Given the description of an element on the screen output the (x, y) to click on. 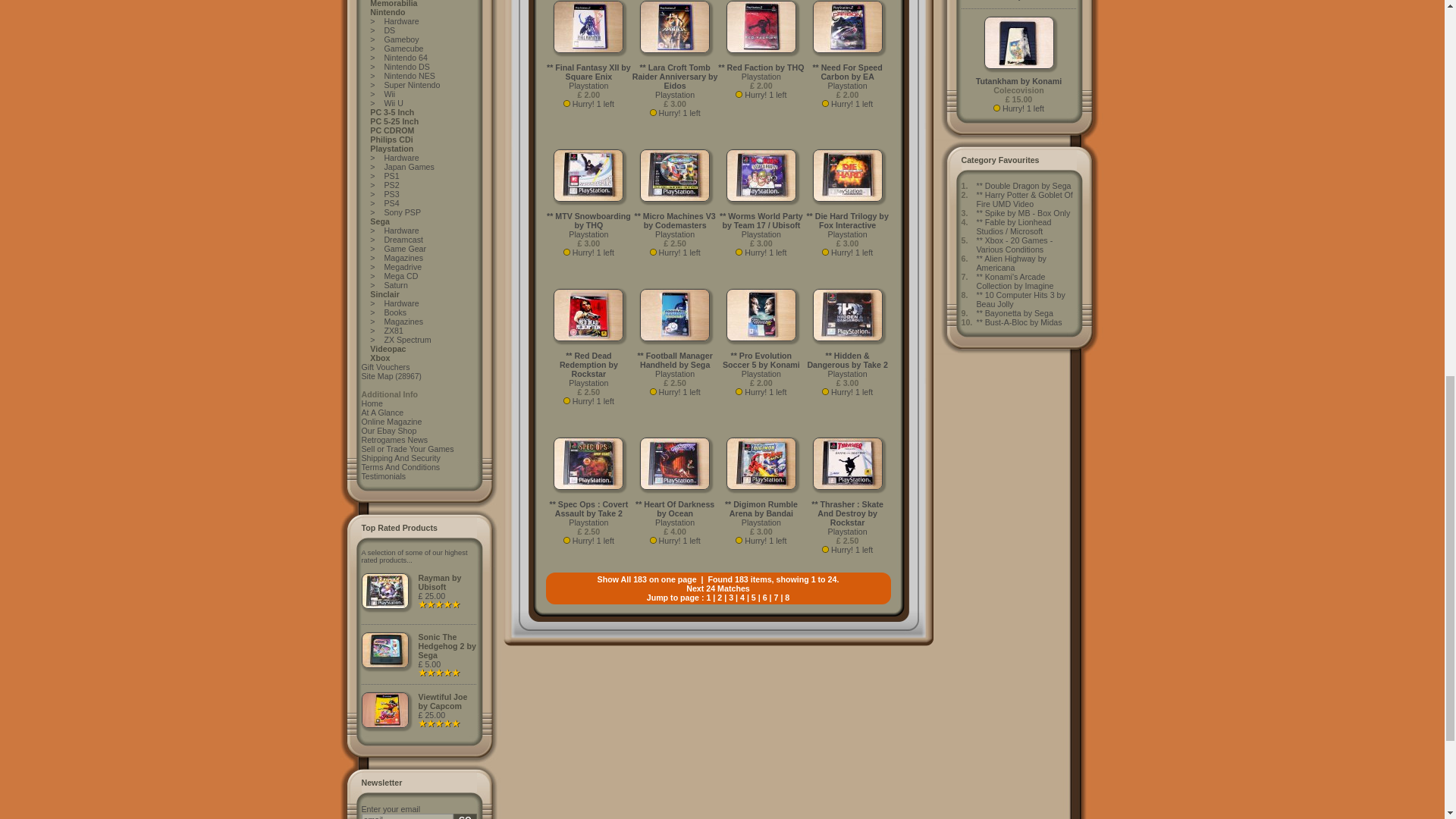
GO (464, 816)
email (406, 816)
